Given the description of an element on the screen output the (x, y) to click on. 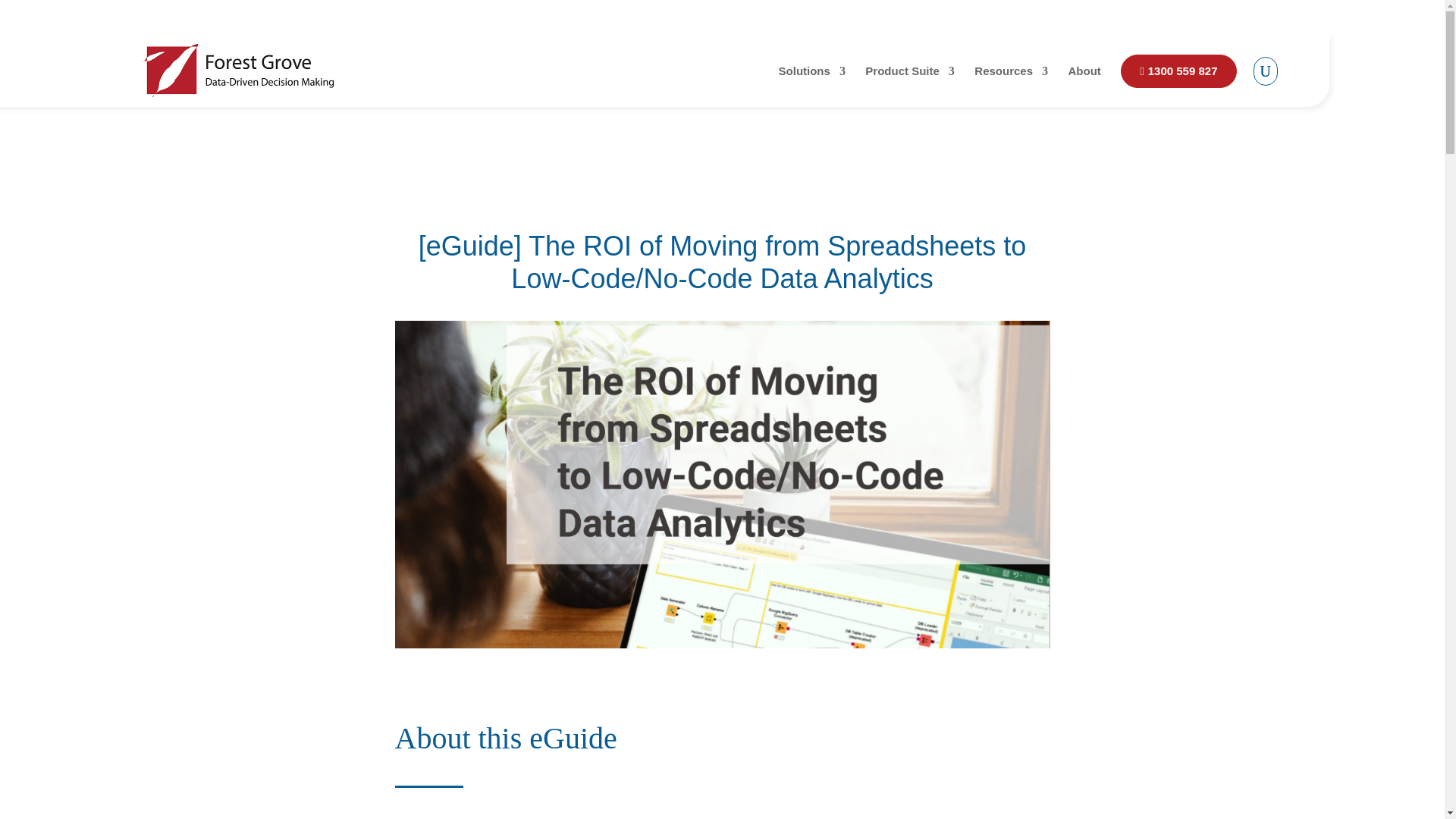
Resources (1011, 85)
1300 559 827 (1178, 70)
Solutions (811, 85)
Product Suite (909, 85)
